Given the description of an element on the screen output the (x, y) to click on. 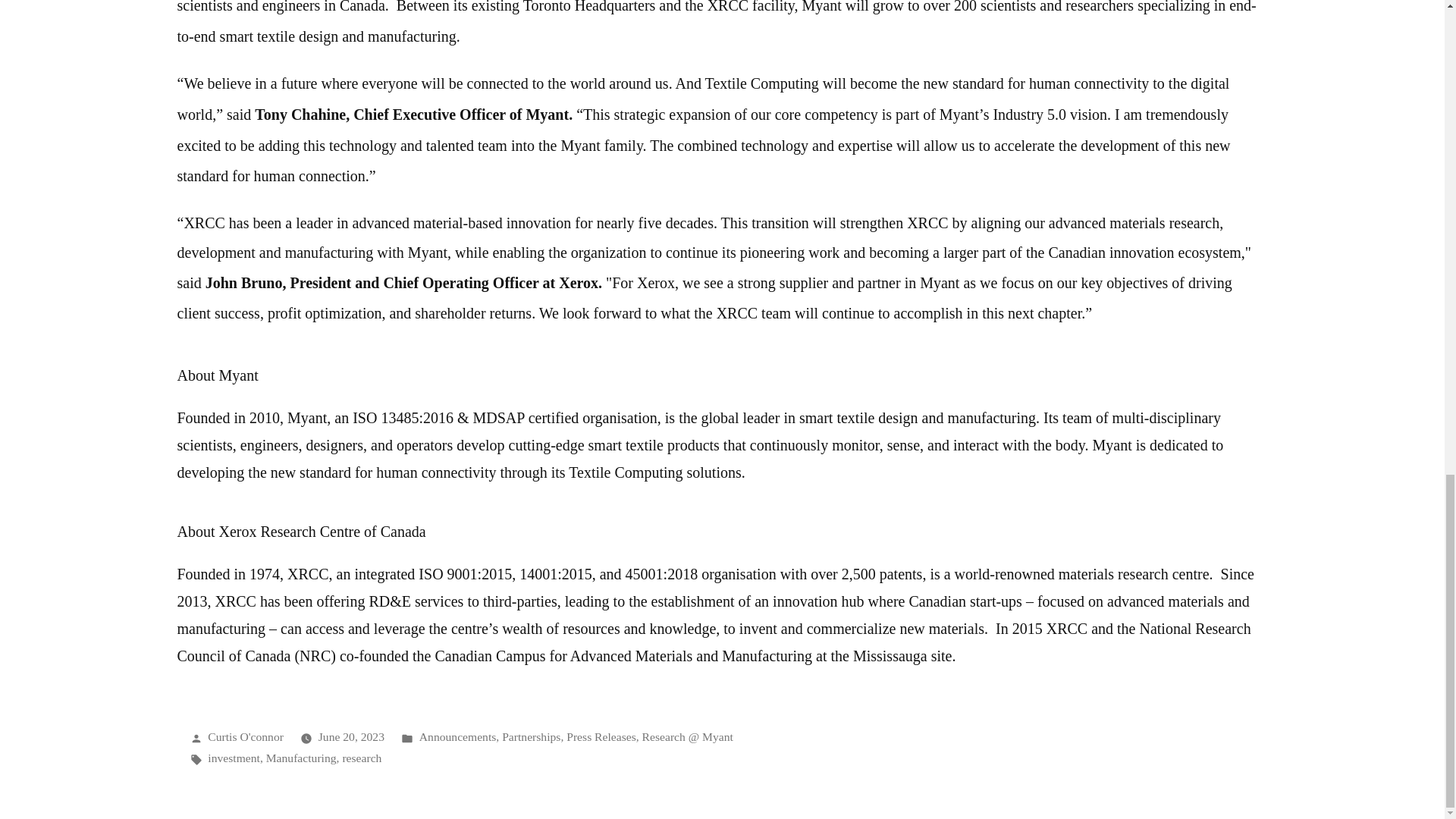
research (361, 757)
Announcements (457, 736)
Partnerships (531, 736)
Press Releases (601, 736)
investment (234, 757)
Curtis O'connor (245, 736)
June 20, 2023 (351, 736)
Manufacturing (301, 757)
